Given the description of an element on the screen output the (x, y) to click on. 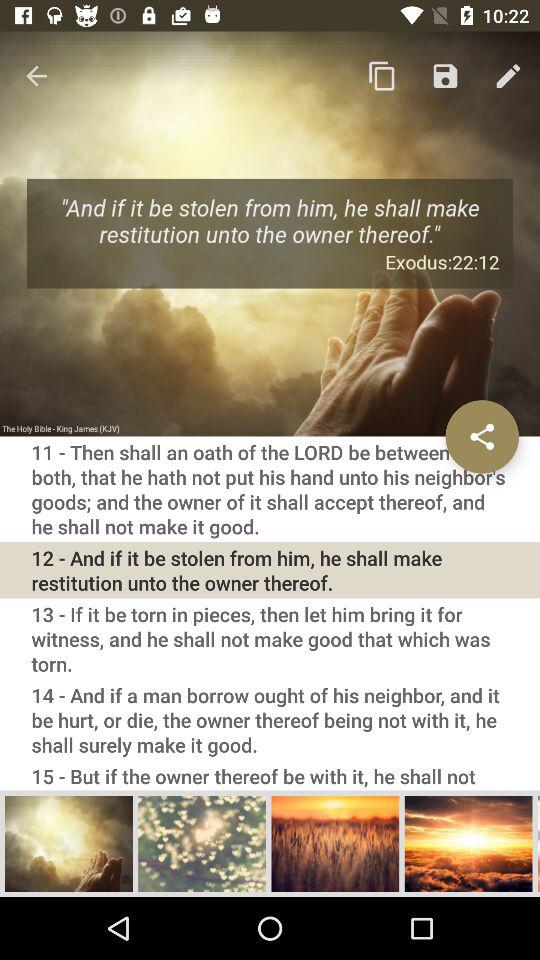
click image (69, 843)
